Given the description of an element on the screen output the (x, y) to click on. 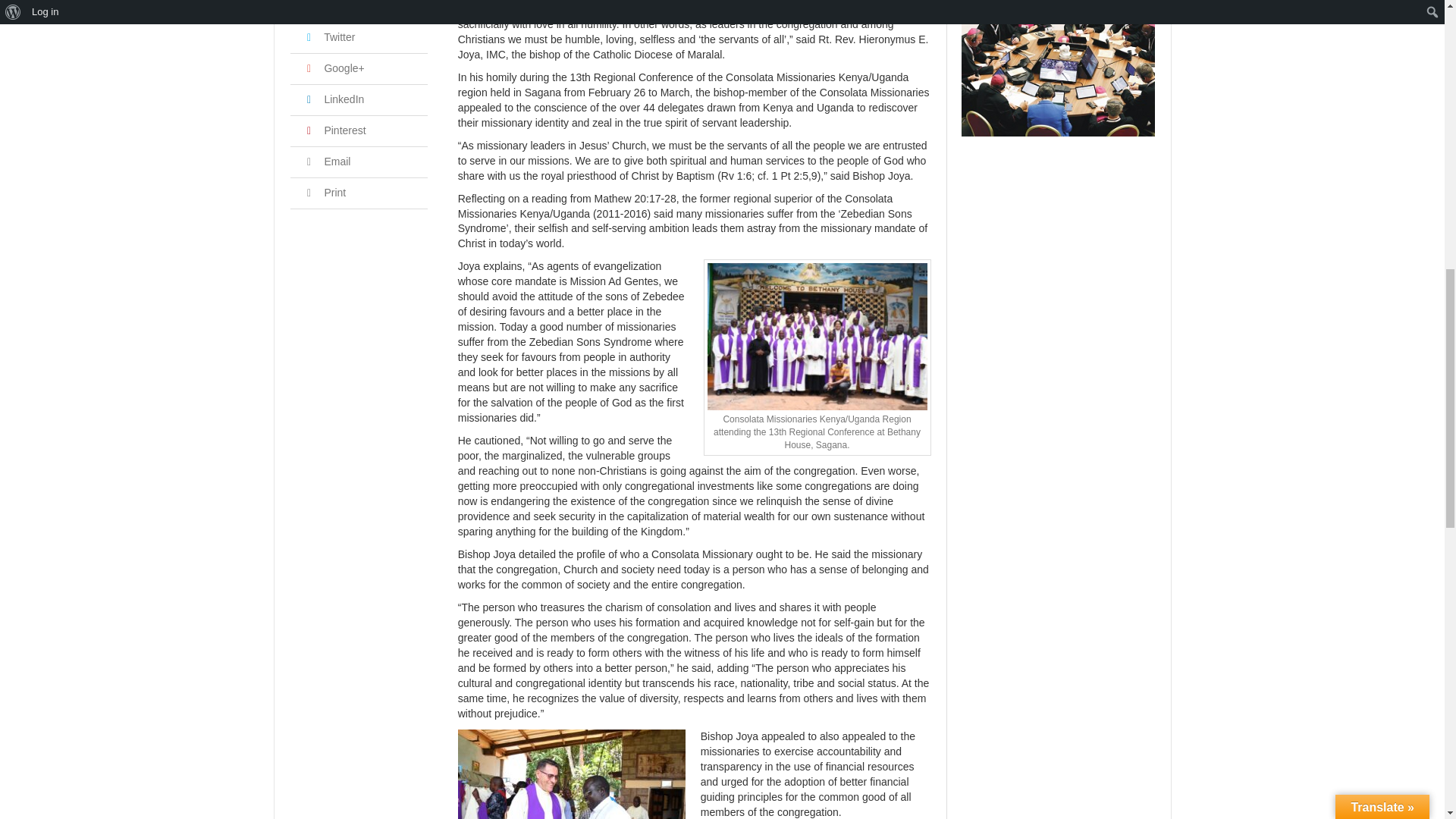
NEW ISSUE (1057, 68)
Facebook (336, 6)
LinkedIn (333, 99)
Twitter (328, 37)
Email (325, 161)
Print (323, 192)
Pinterest (333, 130)
